Given the description of an element on the screen output the (x, y) to click on. 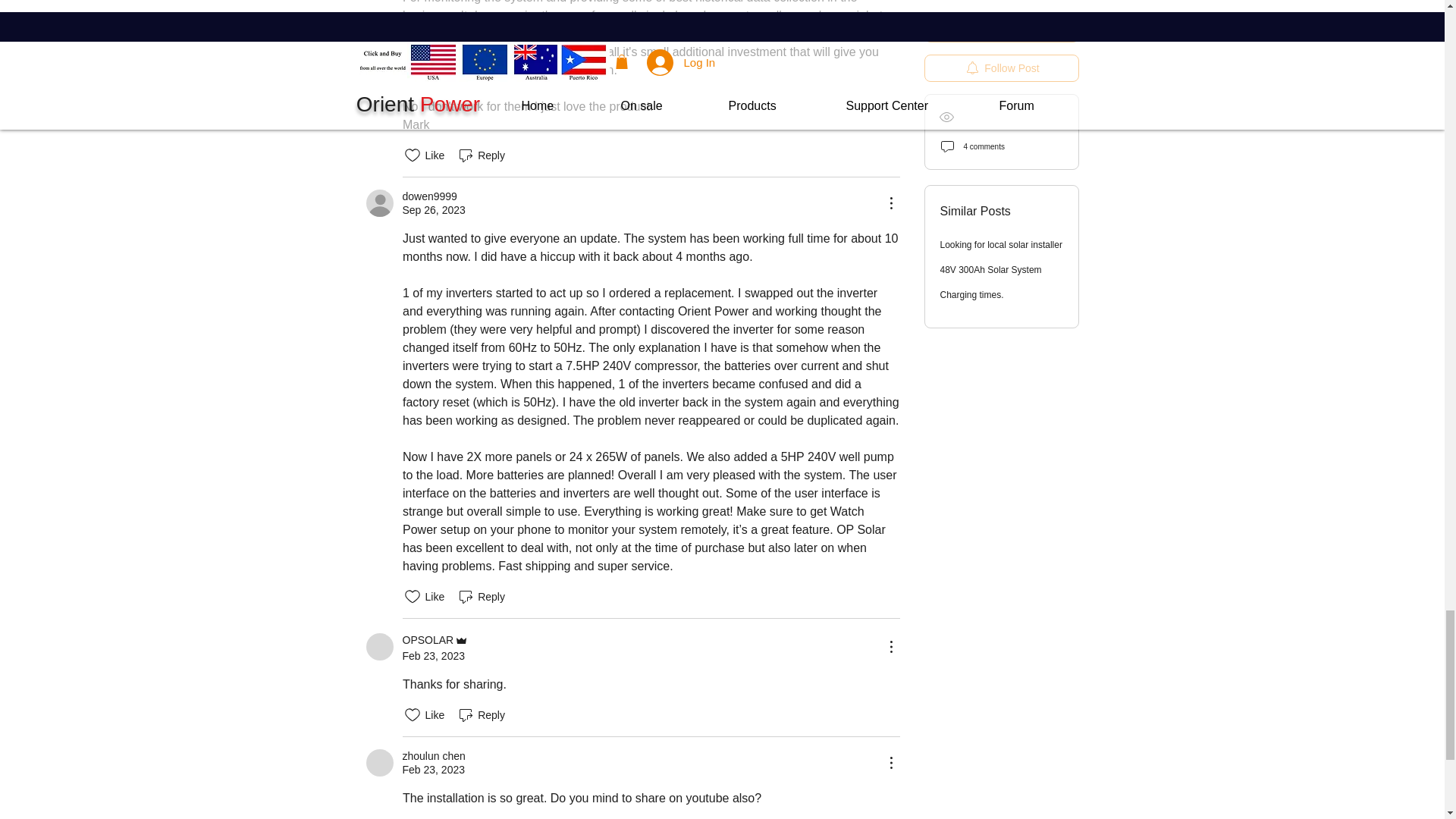
Reply (481, 155)
zhoulun chen (379, 762)
OPSOLAR (379, 646)
